Given the description of an element on the screen output the (x, y) to click on. 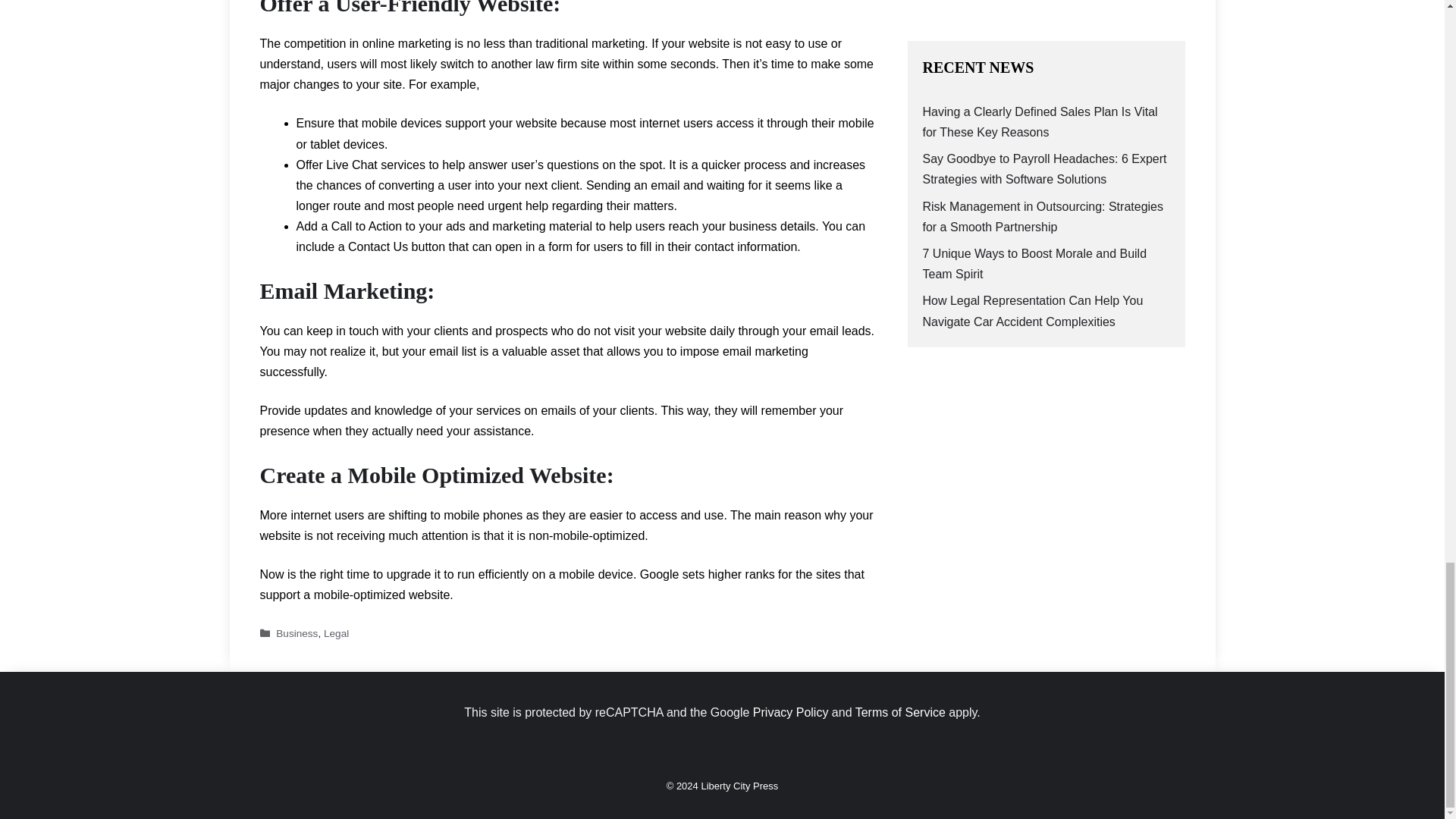
Terms of Service (900, 712)
Legal (336, 632)
Privacy Policy (790, 712)
Business (296, 632)
